Given the description of an element on the screen output the (x, y) to click on. 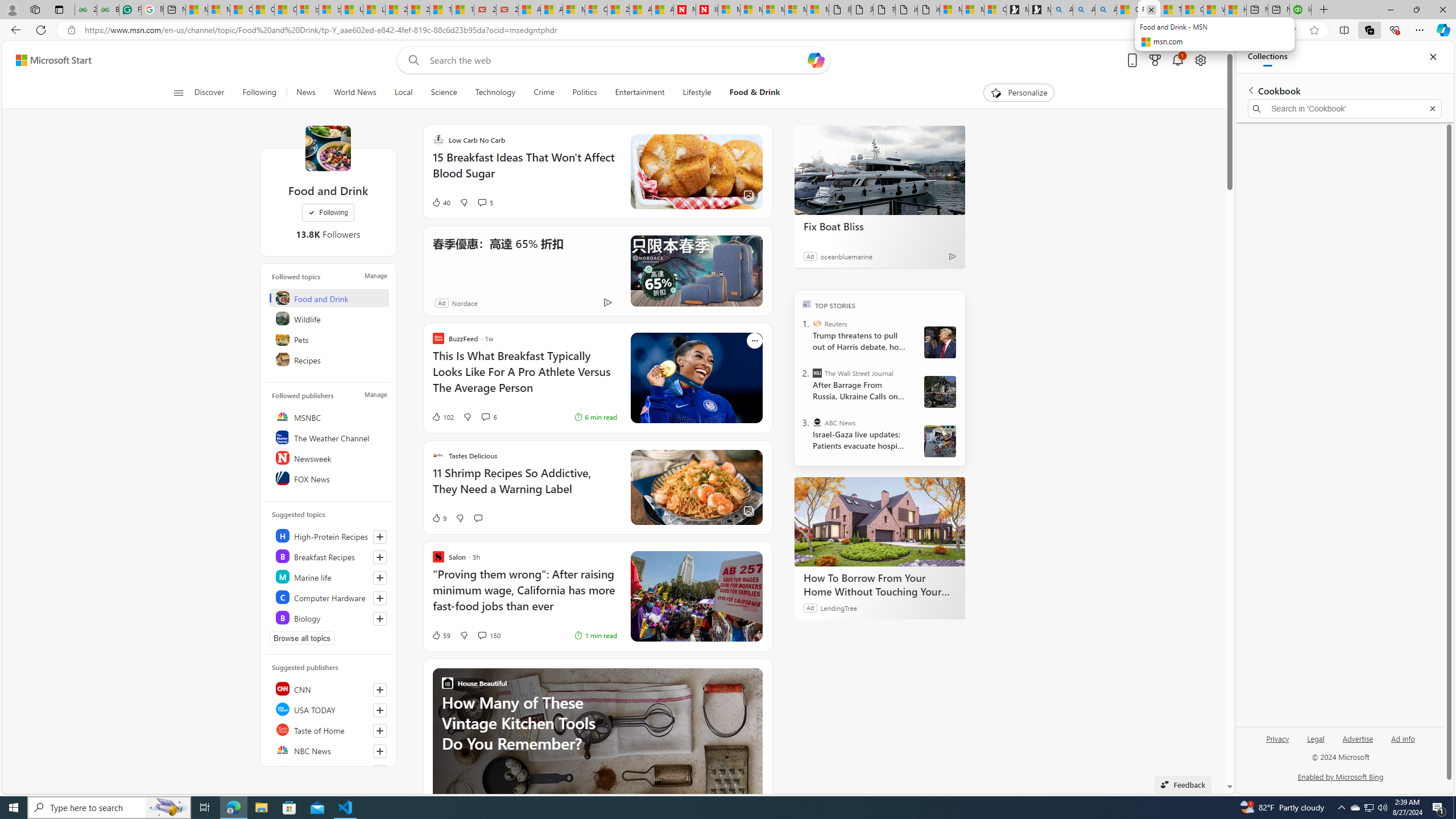
Consumer Health Data Privacy Policy (995, 9)
Food and Drink (328, 298)
Back to list of collections (1250, 90)
Wildlife (328, 318)
USA TODAY - MSN (352, 9)
